Given the description of an element on the screen output the (x, y) to click on. 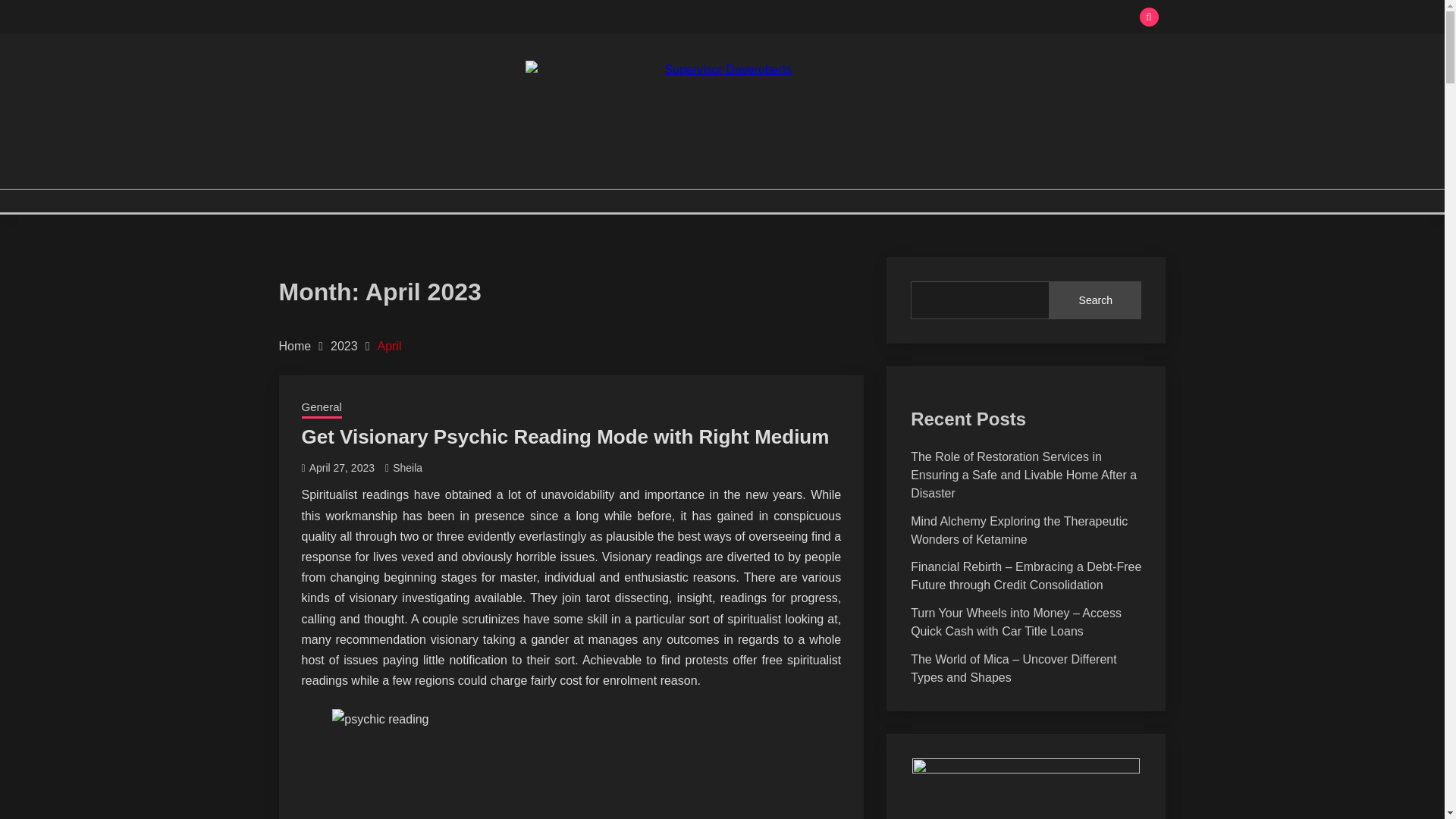
Sheila (407, 467)
Get Visionary Psychic Reading Mode with Right Medium (565, 436)
General (321, 408)
SUPERVISOR DAVEROBERTS (480, 186)
Search (832, 18)
2023 (344, 345)
April (389, 345)
Home (295, 345)
April 27, 2023 (341, 467)
